Given the description of an element on the screen output the (x, y) to click on. 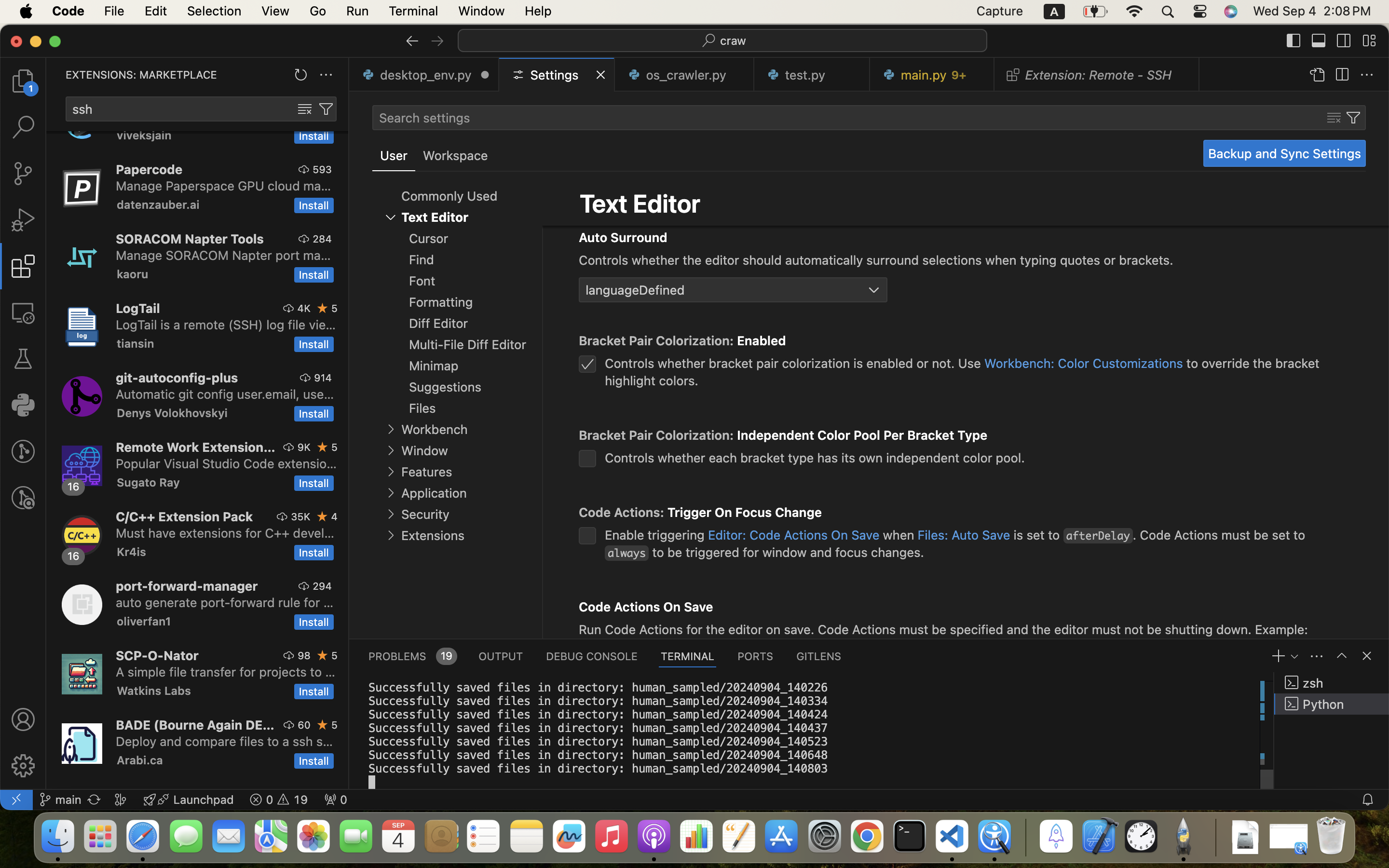
 Element type: AXGroup (23, 127)
0 Extension: Remote - SSH   Element type: AXRadioButton (1096, 74)
0.4285714328289032 Element type: AXDockItem (1024, 836)
Python  Element type: AXGroup (1331, 703)
C/C++ Extension Pack Element type: AXStaticText (184, 516)
